Given the description of an element on the screen output the (x, y) to click on. 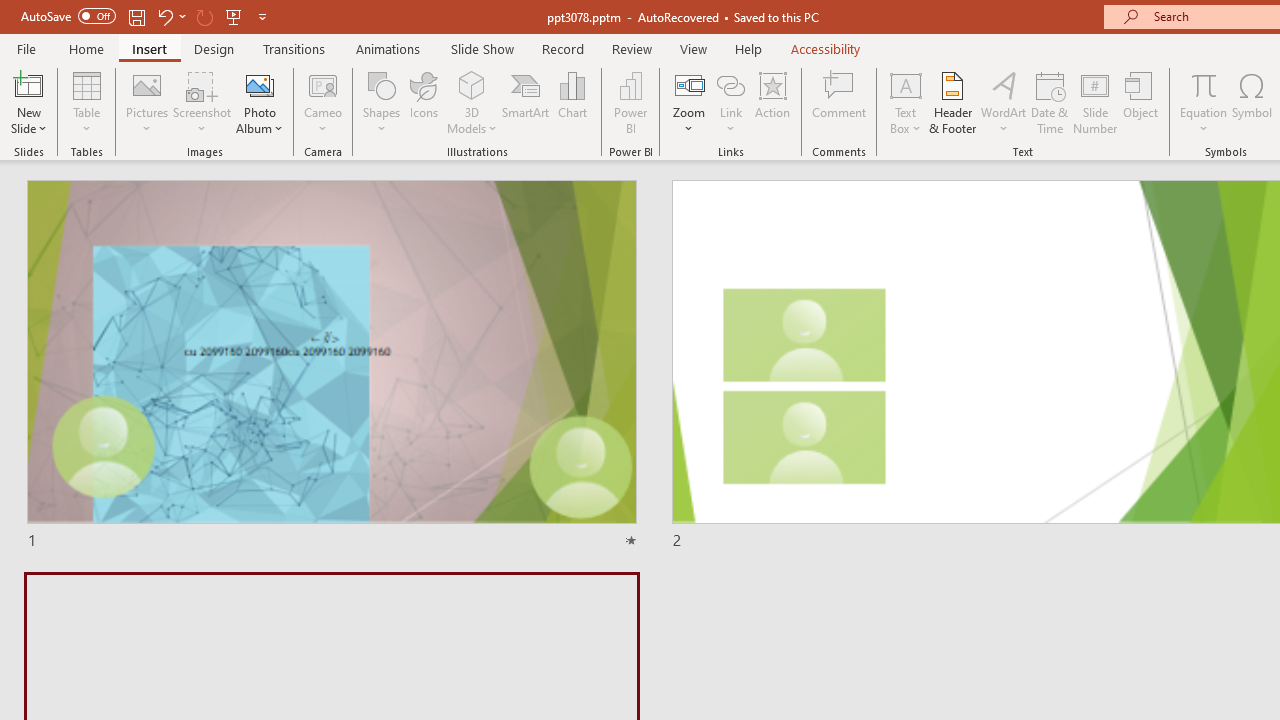
SmartArt... (525, 102)
Slide Number (1095, 102)
Redo (204, 15)
Object... (1141, 102)
Screenshot (202, 102)
Text Box (905, 102)
New Photo Album... (259, 84)
From Beginning (234, 15)
Link (731, 84)
Transitions (294, 48)
Slide (331, 365)
Draw Horizontal Text Box (905, 84)
